Given the description of an element on the screen output the (x, y) to click on. 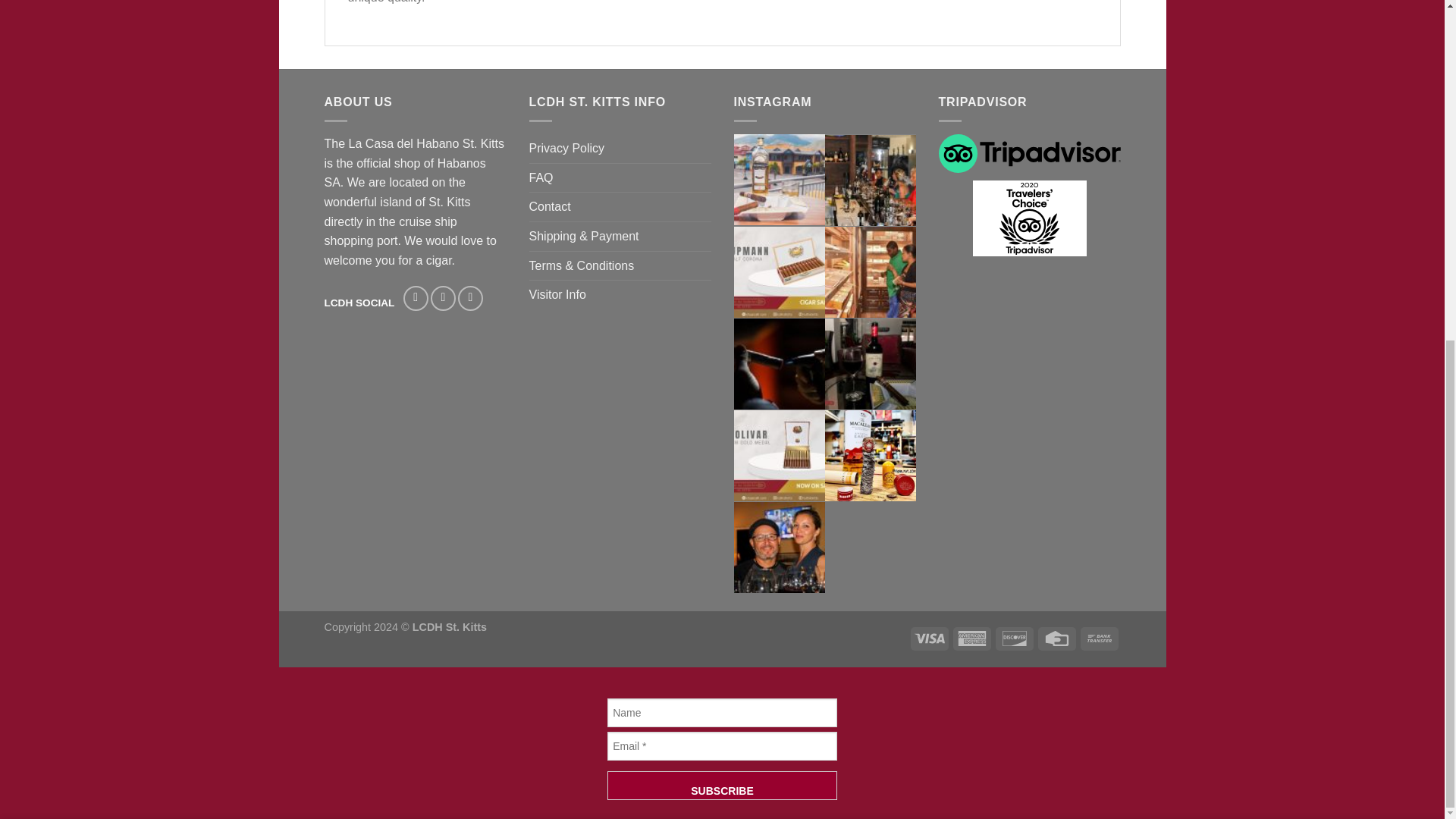
SUBSCRIBE (722, 785)
Follow on Facebook (415, 298)
Follow on Instagram (442, 298)
